Given the description of an element on the screen output the (x, y) to click on. 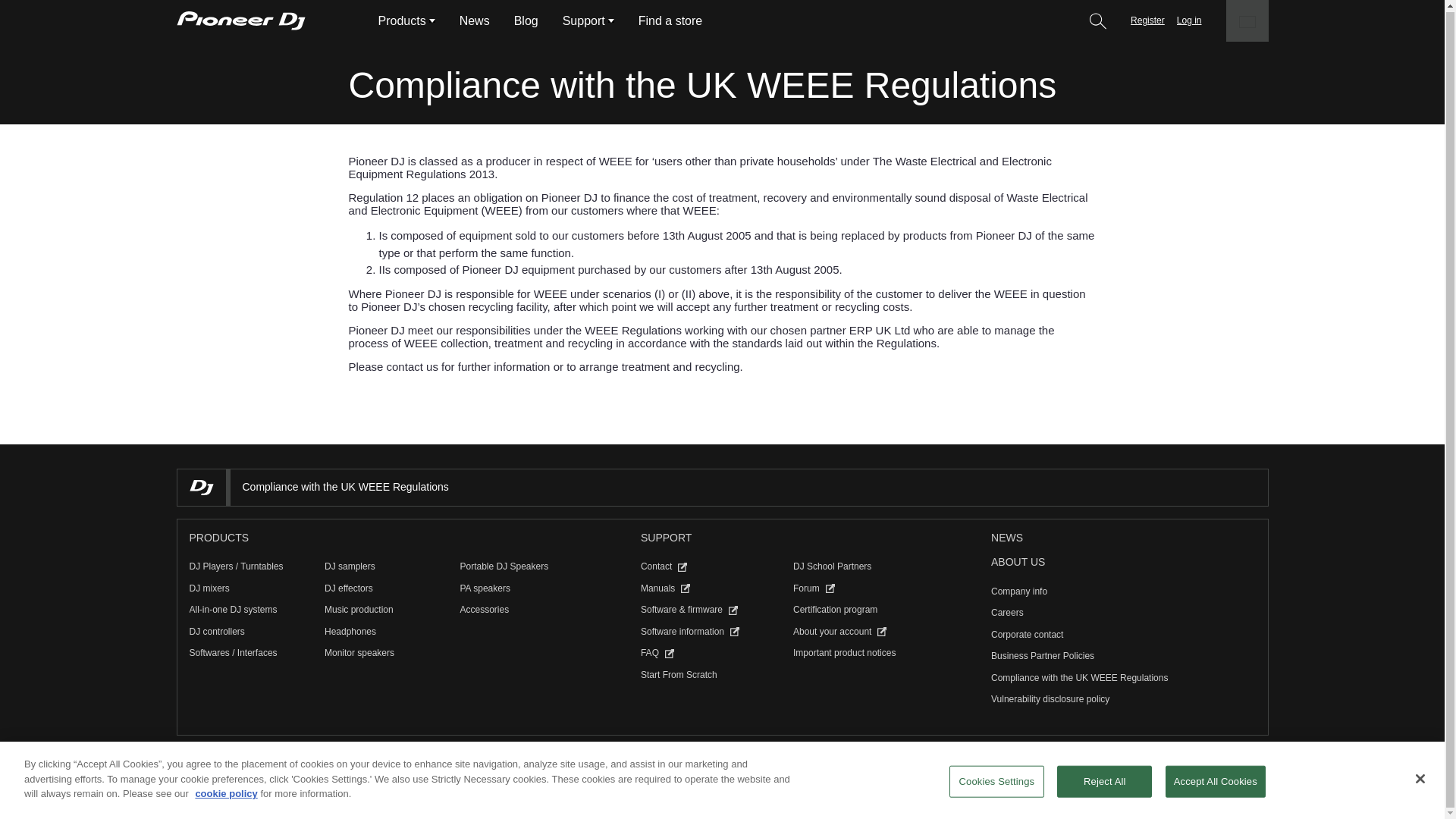
Register (1147, 20)
News (1007, 537)
Find a store (670, 20)
Support (583, 20)
Products (401, 20)
Find a store (670, 20)
